Given the description of an element on the screen output the (x, y) to click on. 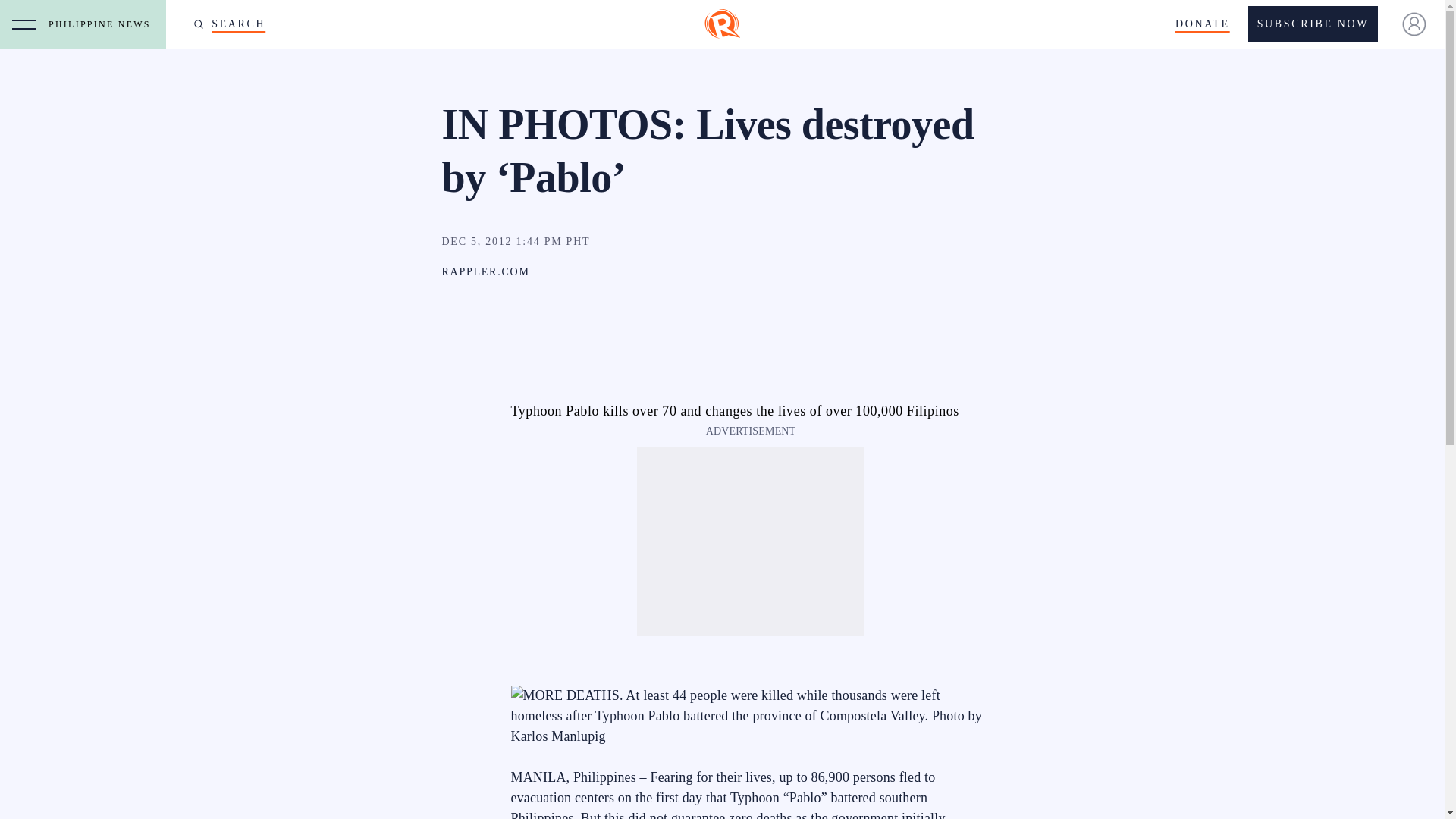
OPEN NAVIGATION (24, 24)
PHILIPPINE NEWS (103, 23)
Typhoon Pablo killed at least 44 people in Compostela Valley (751, 715)
